Given the description of an element on the screen output the (x, y) to click on. 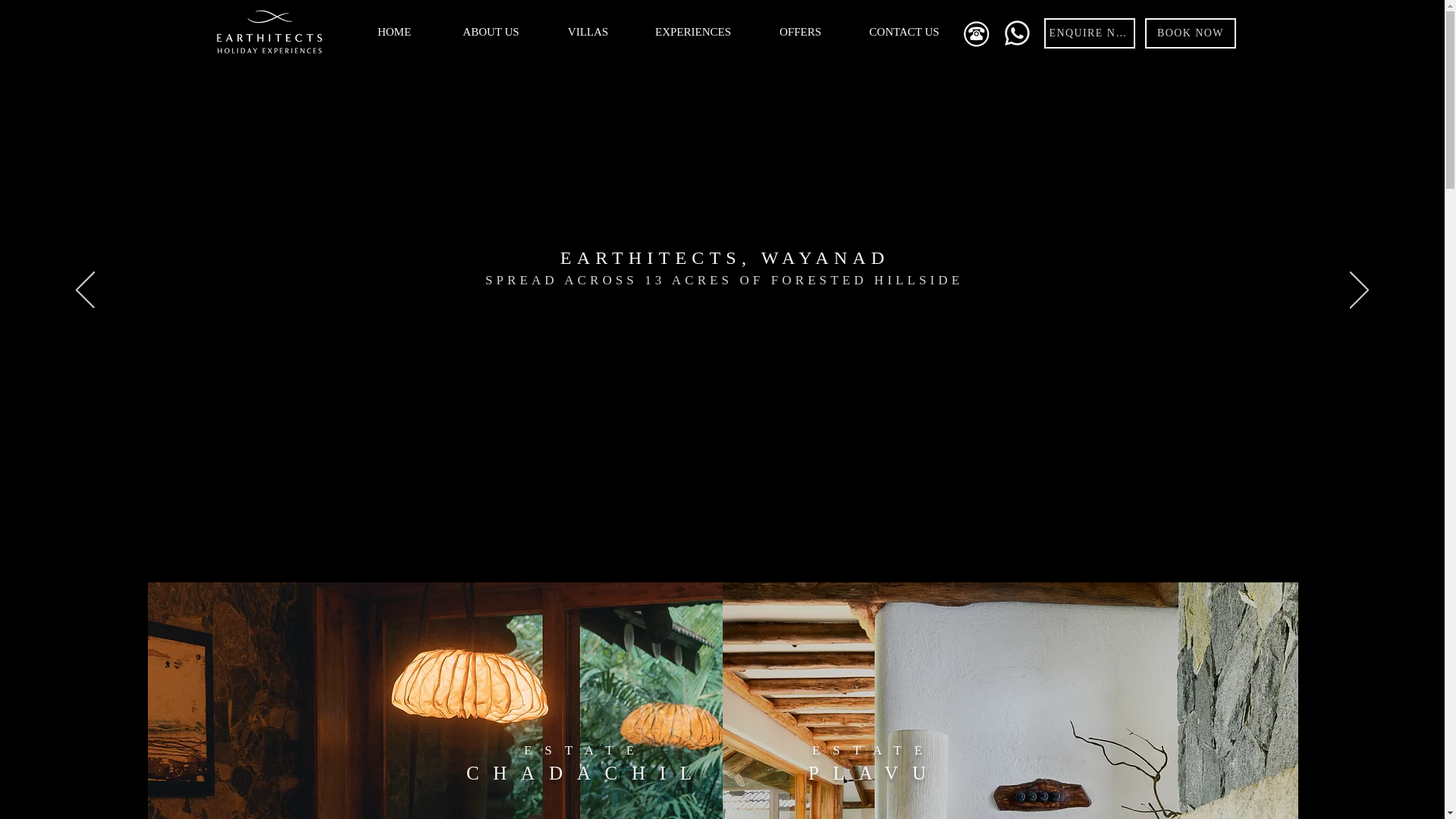
OFFERS (799, 31)
HOME (394, 31)
BOOK NOW (1190, 33)
WhatsApp Us (1015, 33)
ABOUT US (491, 31)
VILLAS (587, 31)
ENQUIRE NOW (1088, 33)
CONTACT US (902, 31)
EXPERIENCES (692, 31)
Call Us (975, 33)
